Given the description of an element on the screen output the (x, y) to click on. 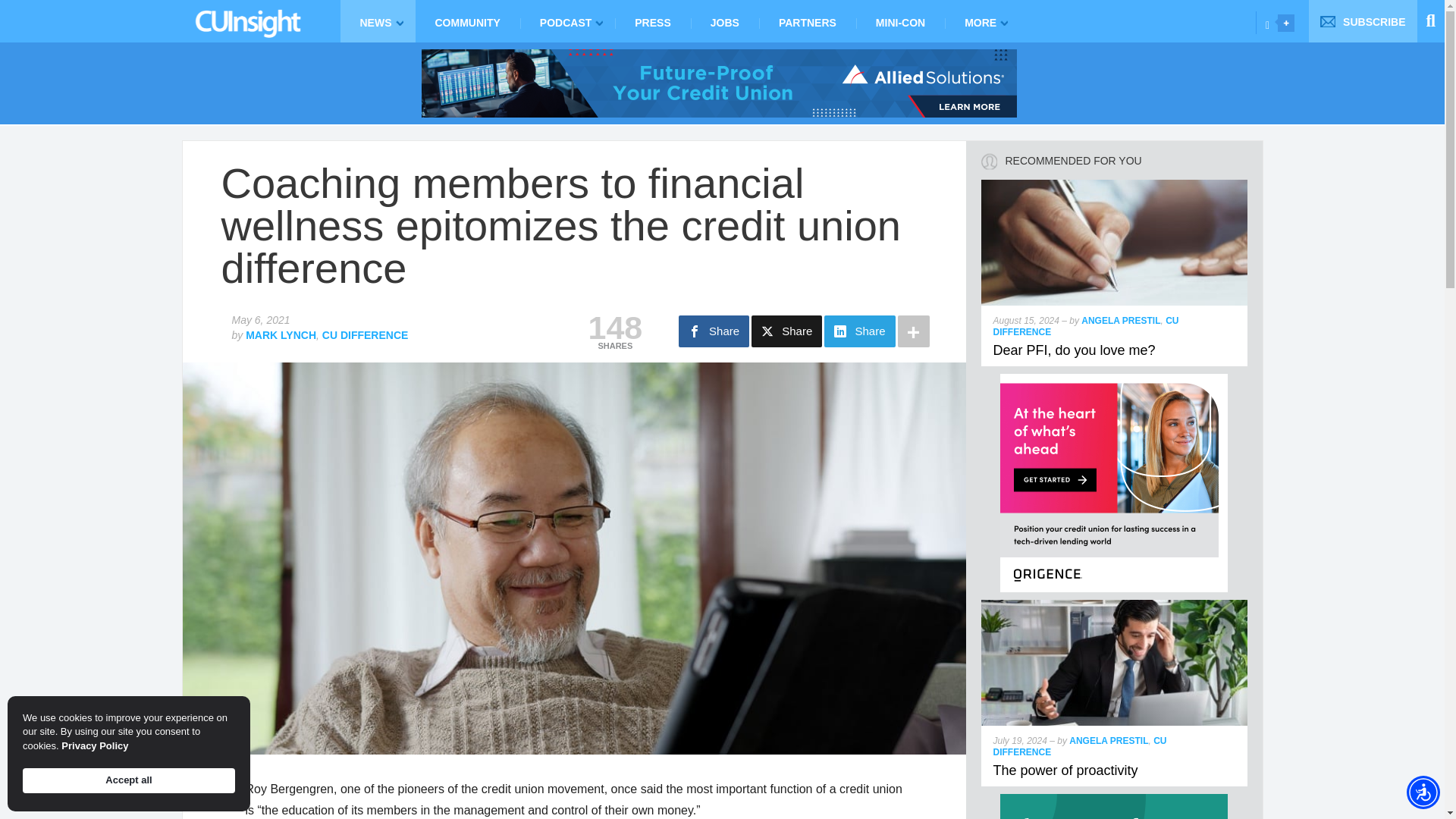
MORE (982, 21)
Accessibility Menu (1422, 792)
Dear PFI, do you love me? (1074, 350)
JOBS (724, 21)
PODCAST (566, 21)
PRESS (652, 21)
COMMUNITY (466, 21)
SUBSCRIBE (1362, 21)
The power of proactivity (1065, 770)
Opener (1286, 22)
